Given the description of an element on the screen output the (x, y) to click on. 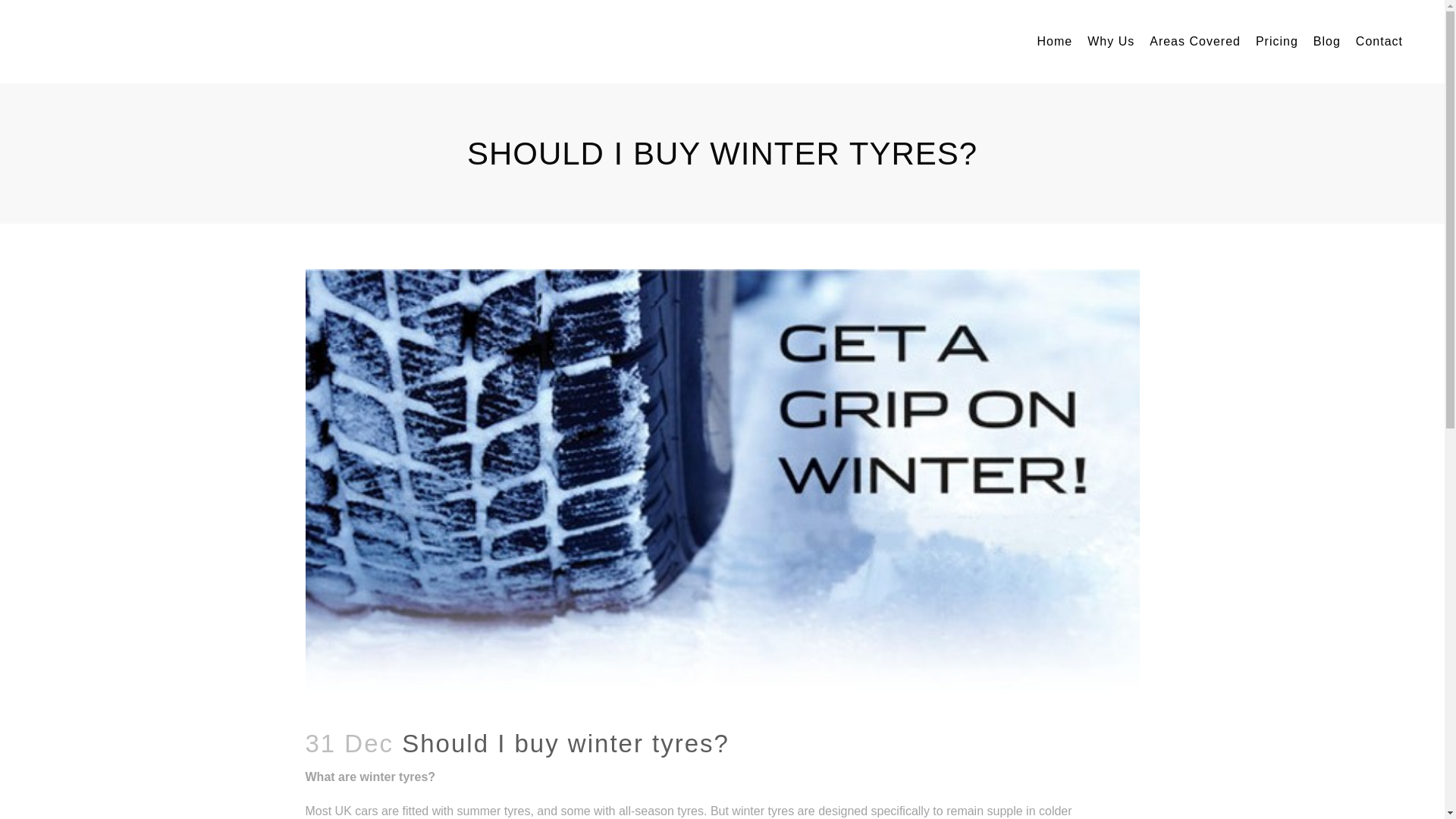
Blog (621, 648)
Areas Covered (1194, 41)
Contact (621, 678)
Why Us (621, 589)
Pricing (621, 619)
Home (621, 560)
